Given the description of an element on the screen output the (x, y) to click on. 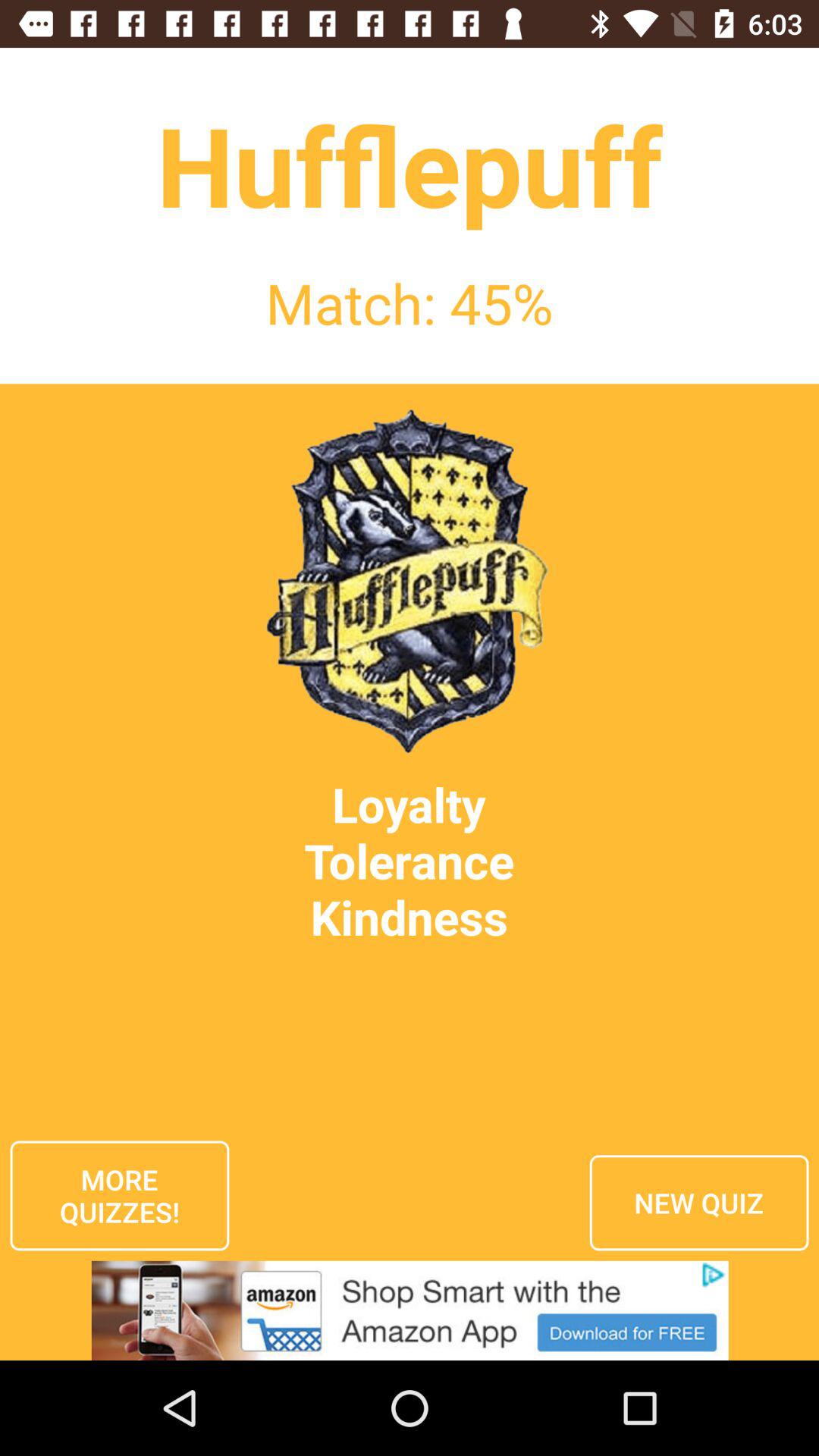
advertisement (409, 1310)
